Given the description of an element on the screen output the (x, y) to click on. 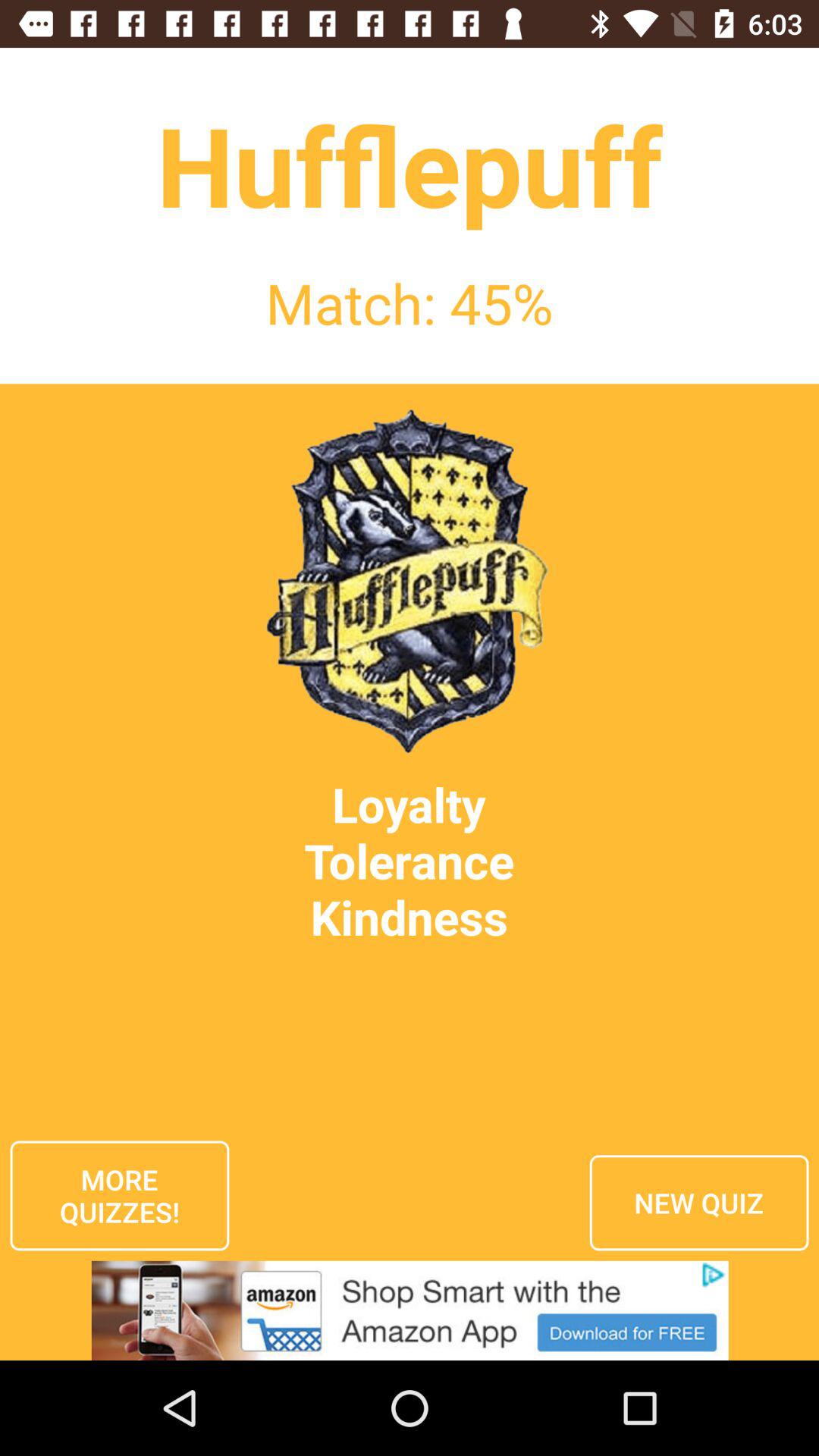
advertisement (409, 1310)
